Given the description of an element on the screen output the (x, y) to click on. 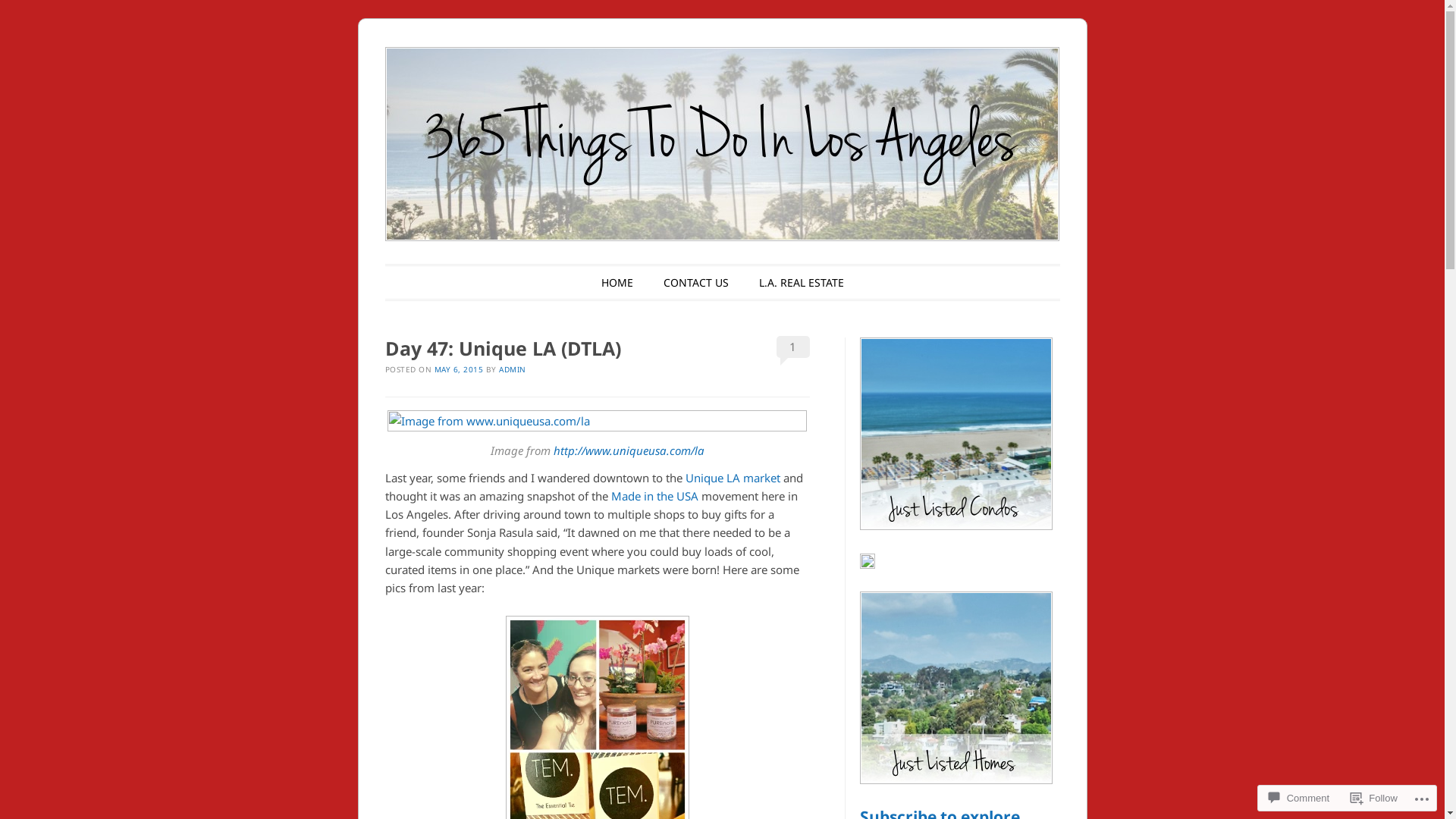
Unique LA market Element type: text (732, 477)
Follow Element type: text (1373, 797)
ADMIN Element type: text (512, 369)
Made in the USA Element type: text (654, 495)
Comment Element type: text (1298, 797)
L.A. REAL ESTATE Element type: text (800, 282)
http://www.uniqueusa.com/la Element type: text (628, 450)
1 Element type: text (792, 346)
HOME Element type: text (616, 282)
CONTACT US Element type: text (695, 282)
365 Things To Do in Los Angeles Element type: text (741, 83)
Skip to content Element type: text (439, 282)
MAY 6, 2015 Element type: text (458, 369)
